Given the description of an element on the screen output the (x, y) to click on. 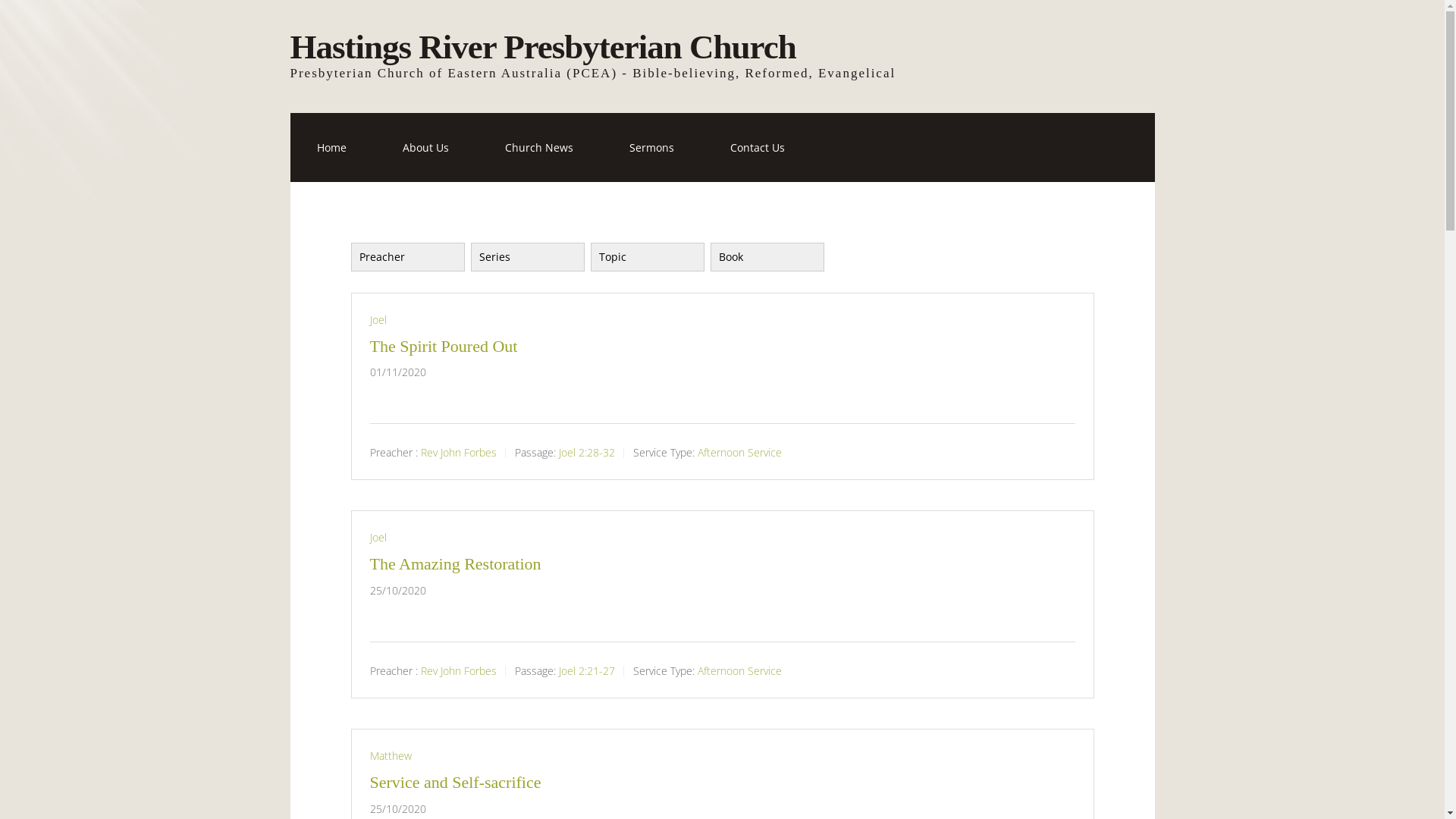
Sermons Element type: text (650, 147)
The Spirit Poured Out Element type: text (443, 345)
Church News Element type: text (538, 147)
Joel Element type: text (378, 537)
Home Element type: text (330, 147)
Joel 2:28-32 Element type: text (586, 452)
Matthew Element type: text (390, 755)
About Us Element type: text (425, 147)
Service and Self-sacrifice Element type: text (455, 781)
The Amazing Restoration Element type: text (455, 563)
Hastings River Presbyterian Church Element type: text (542, 46)
Rev John Forbes Element type: text (457, 452)
Afternoon Service Element type: text (739, 452)
Afternoon Service Element type: text (739, 669)
Contact Us Element type: text (757, 147)
Joel Element type: text (378, 319)
Joel 2:21-27 Element type: text (586, 669)
Rev John Forbes Element type: text (457, 669)
